Given the description of an element on the screen output the (x, y) to click on. 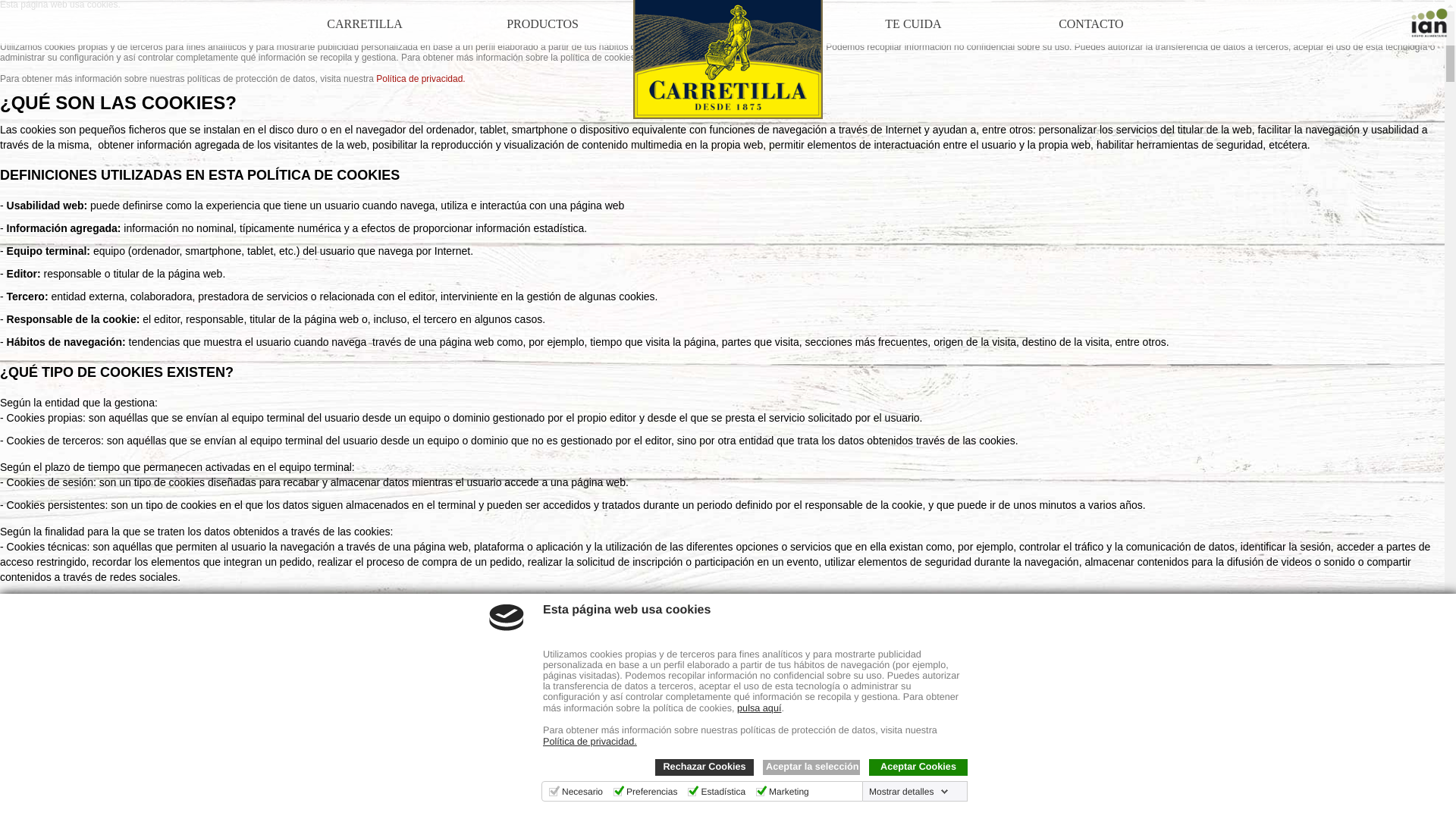
Cookiebot (298, 814)
Cookiebot (298, 814)
Cambiar tu consentimiento (72, 790)
